Given the description of an element on the screen output the (x, y) to click on. 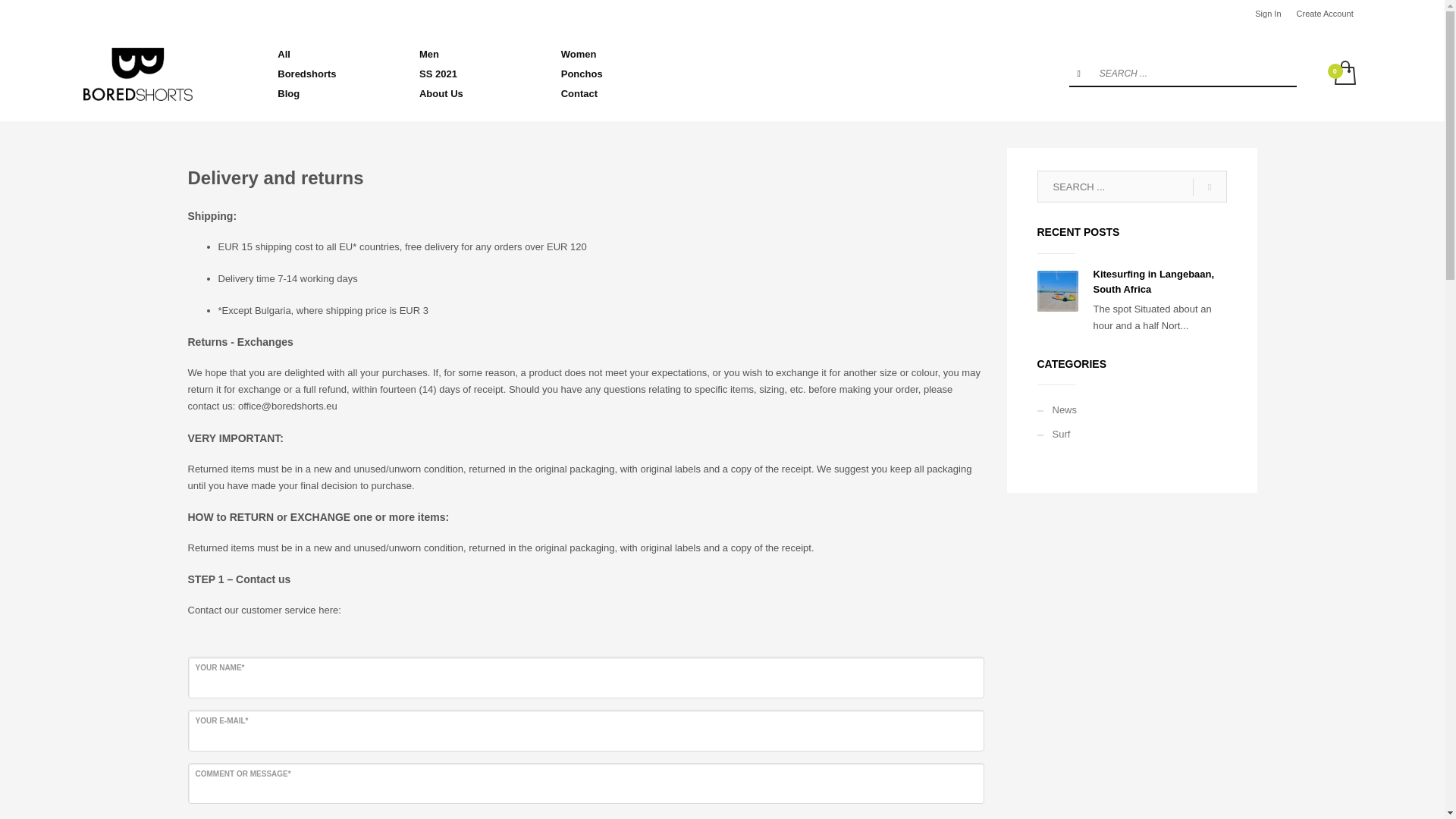
go (1208, 187)
Surf (1131, 434)
Ponchos (622, 73)
go (1078, 72)
Kitesurfing in Langebaan, South Africa (1153, 281)
Sign In (1268, 13)
All (338, 53)
Boredshorts (338, 73)
Men (480, 53)
Blog (338, 93)
Kitesurfing in Langebaan, South Africa (1153, 281)
Contact (622, 93)
View your shopping cart (1343, 73)
SS 2021 (480, 73)
About Us (480, 93)
